Given the description of an element on the screen output the (x, y) to click on. 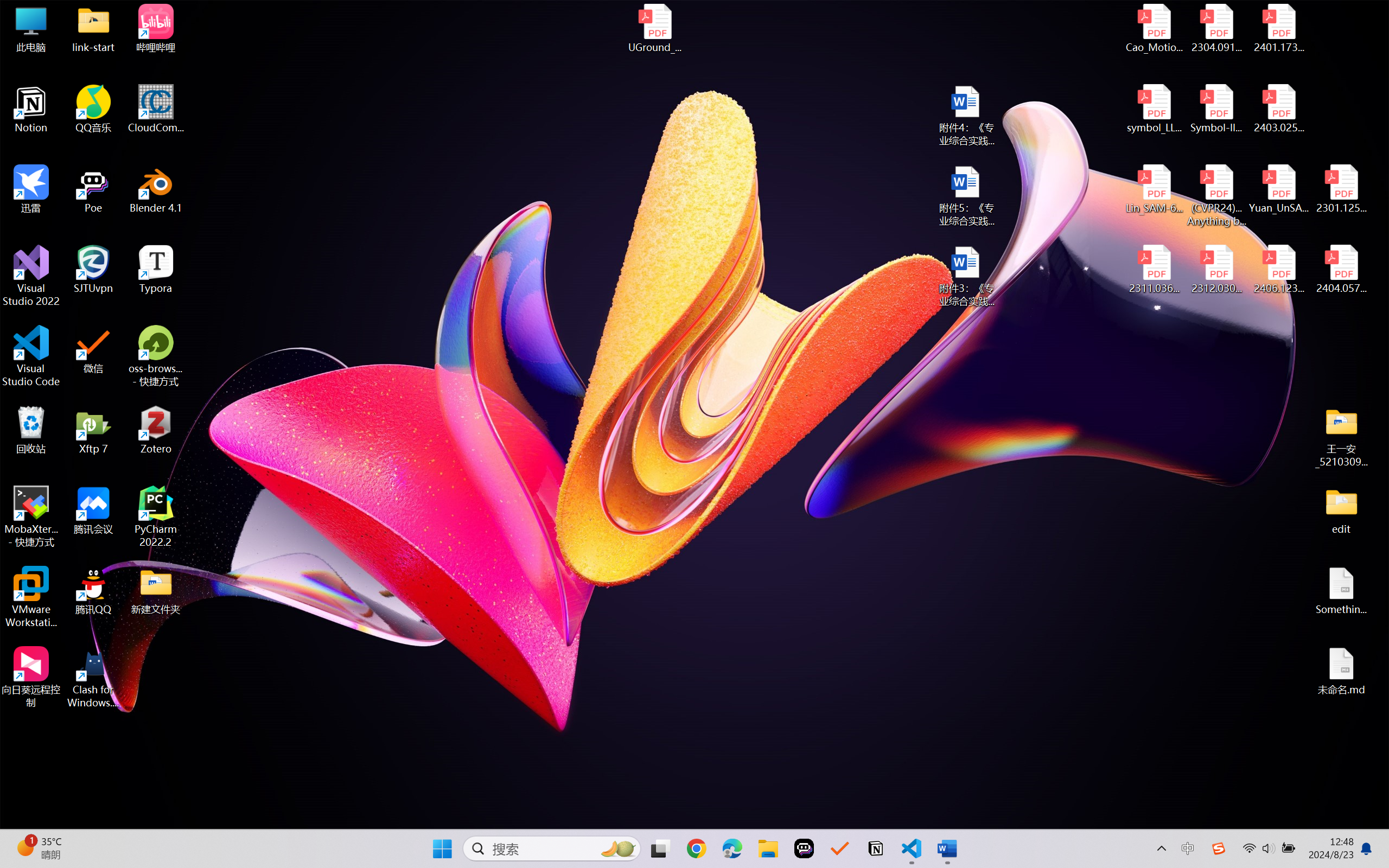
CloudCompare (156, 109)
2406.12373v2.pdf (1278, 269)
2403.02502v1.pdf (1278, 109)
Visual Studio Code (31, 355)
VMware Workstation Pro (31, 597)
